Given the description of an element on the screen output the (x, y) to click on. 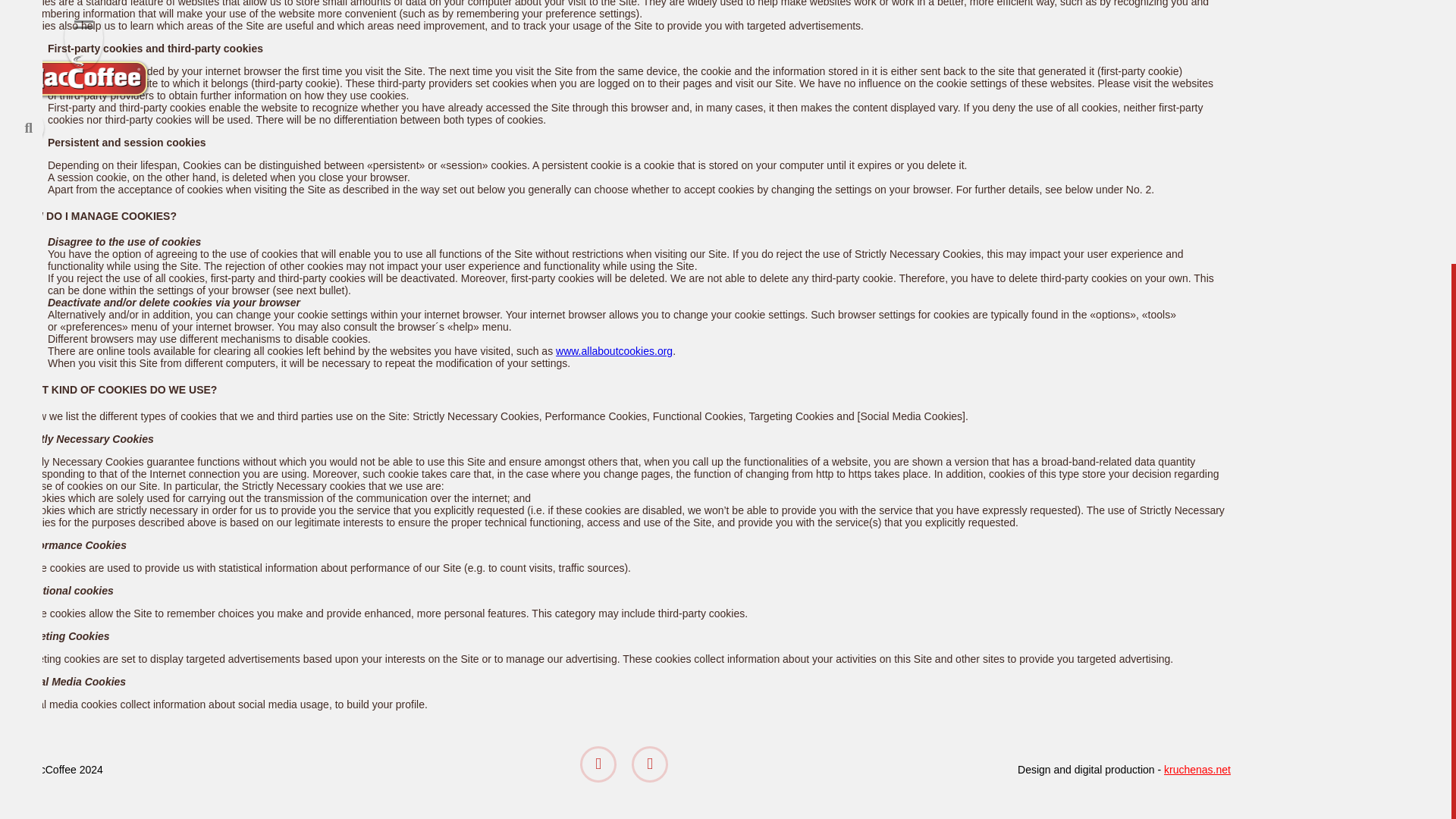
kruchenas.net (1196, 769)
www.allaboutcookies.org (614, 350)
